Given the description of an element on the screen output the (x, y) to click on. 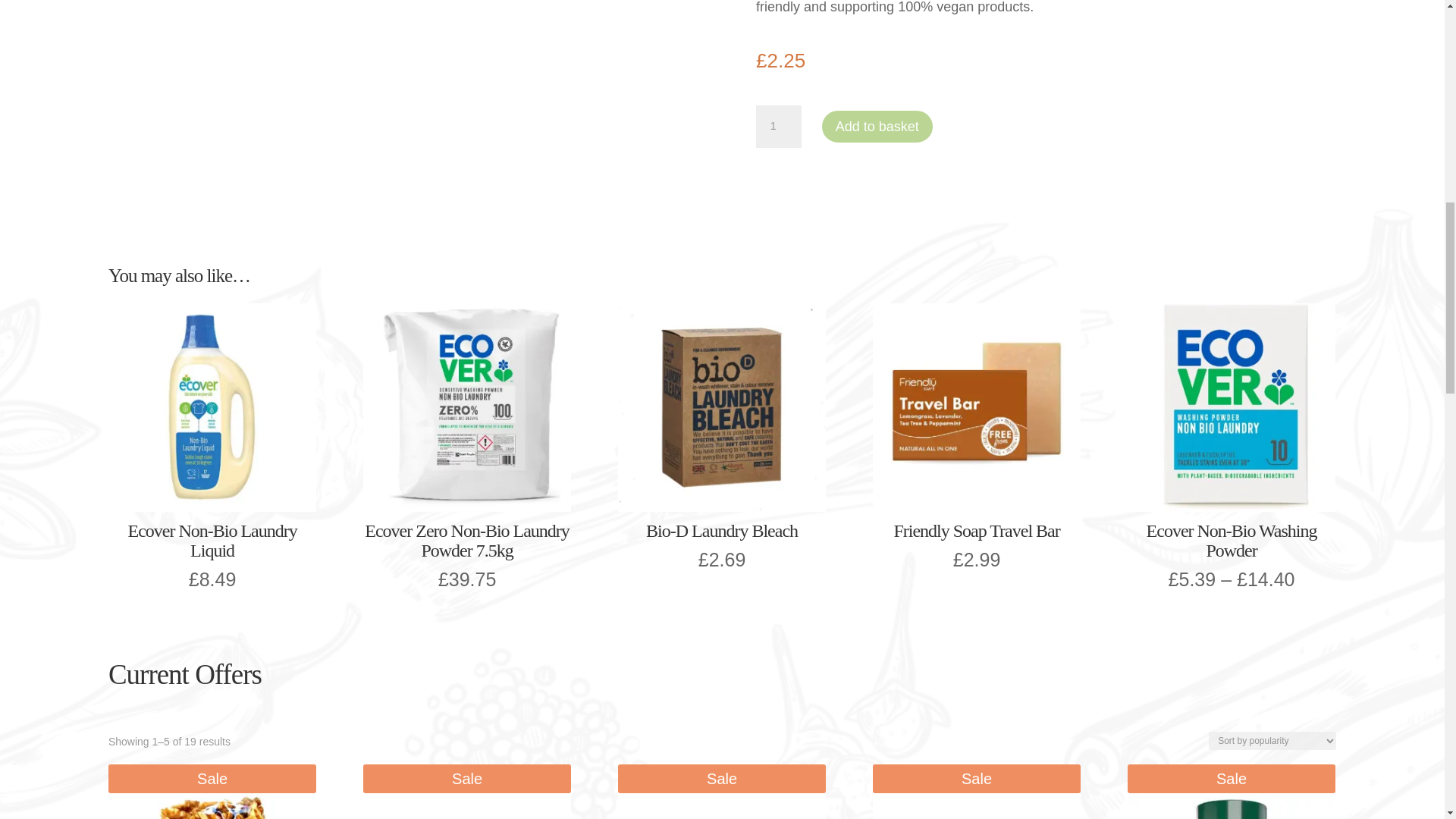
Add to basket (877, 125)
1 (778, 126)
